Given the description of an element on the screen output the (x, y) to click on. 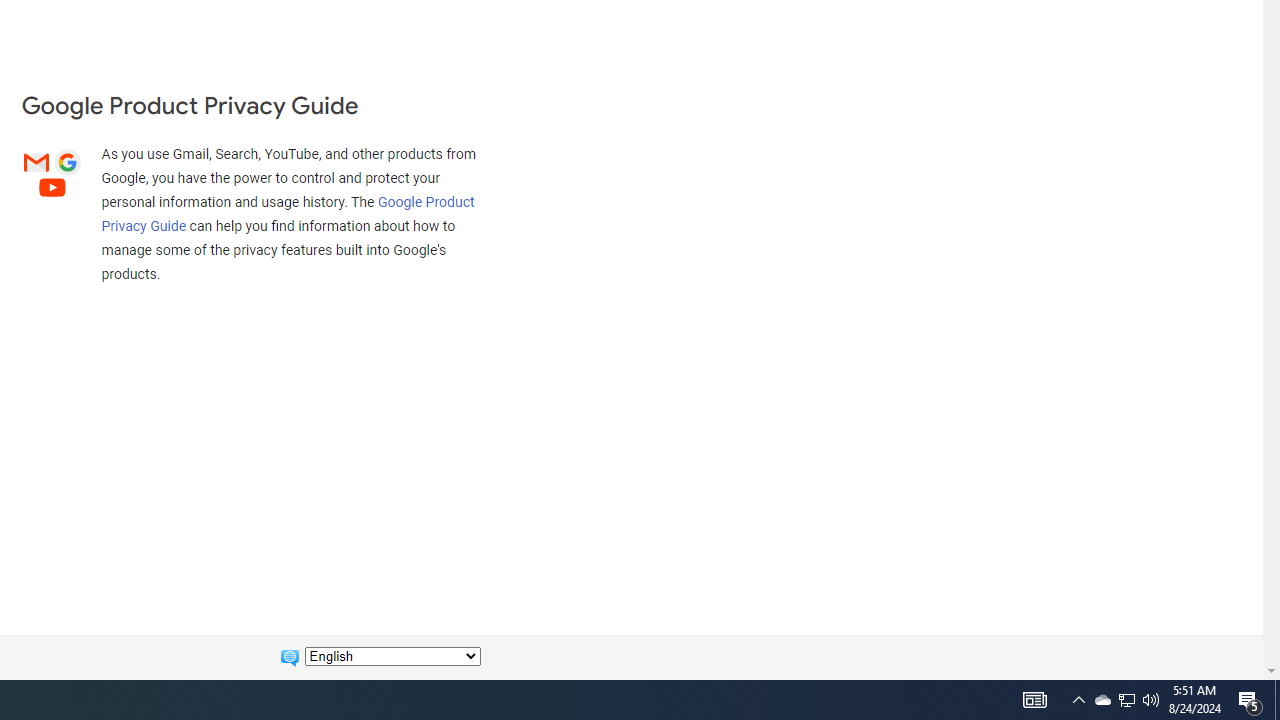
Change language: (392, 656)
Google Product Privacy Guide (287, 213)
